Given the description of an element on the screen output the (x, y) to click on. 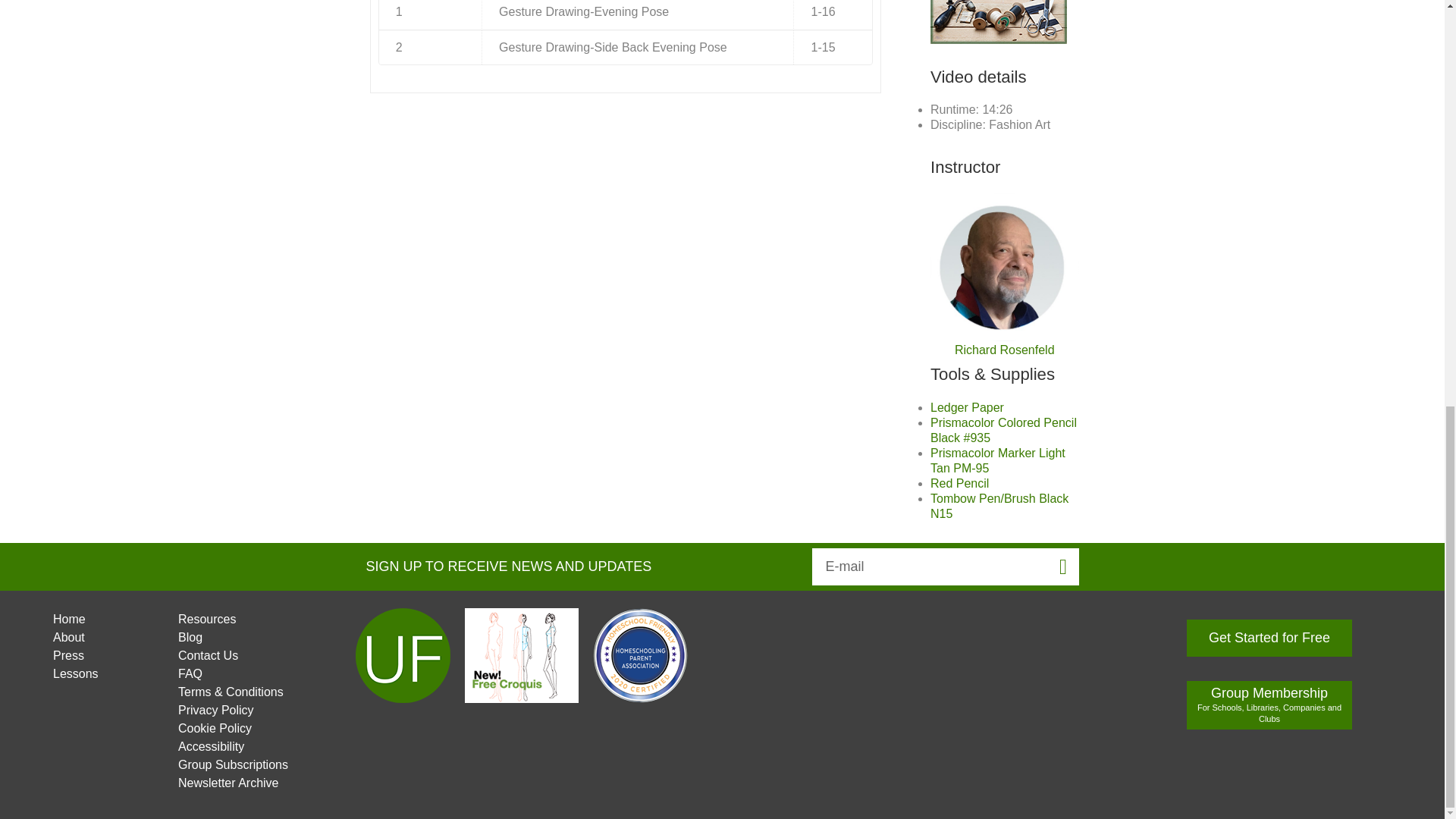
Lessons by Richard Rosenfeld (1004, 349)
Home Schooling (633, 696)
E-mail (928, 566)
Advertisement (998, 22)
Lessons by Richard Rosenfeld (1004, 331)
Fashion Croquis (515, 696)
